Given the description of an element on the screen output the (x, y) to click on. 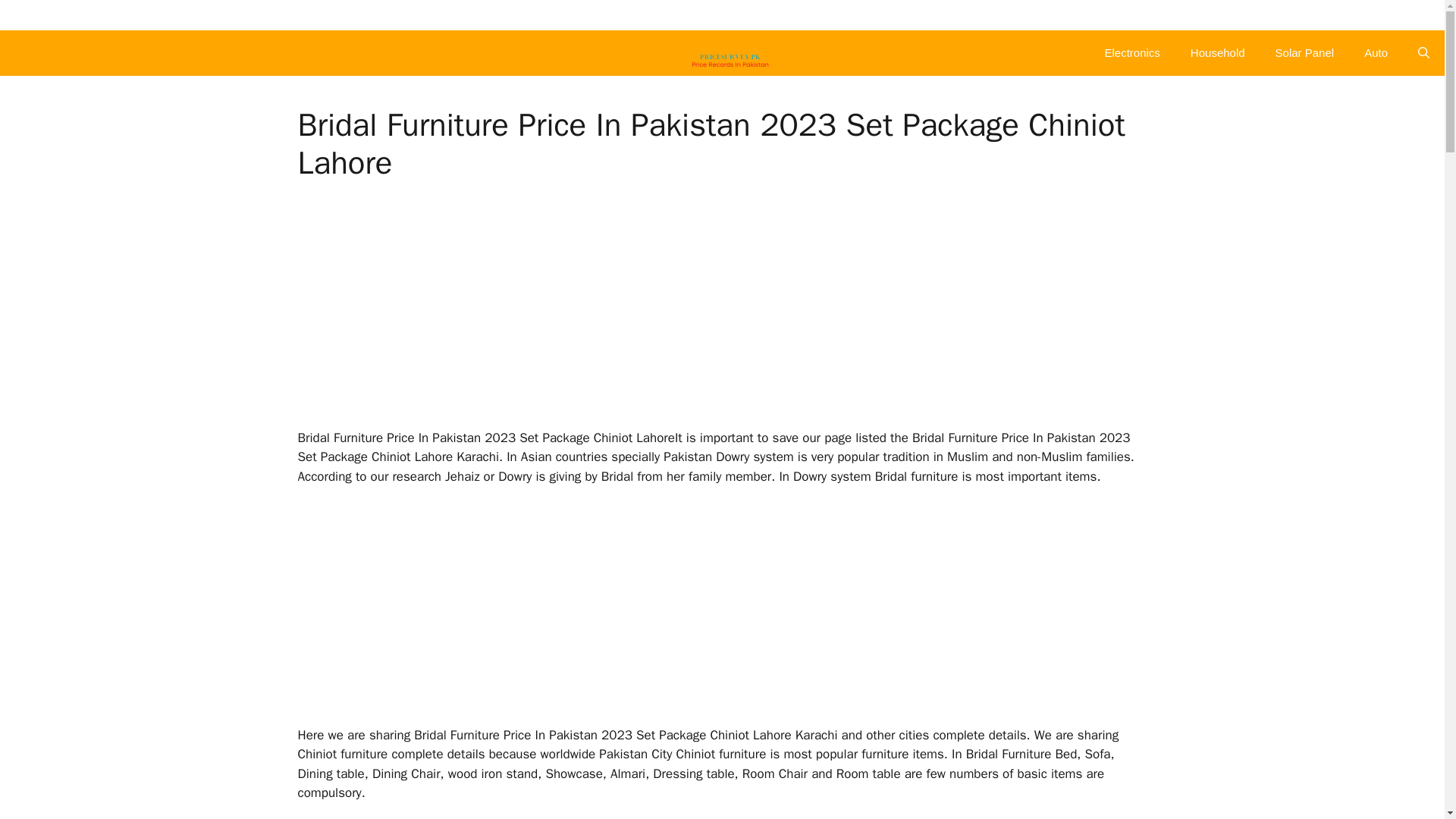
Auto (1376, 53)
Price In Pakistan (730, 52)
Household (1217, 53)
Electronics (1131, 53)
Solar Panel (1304, 53)
